Given the description of an element on the screen output the (x, y) to click on. 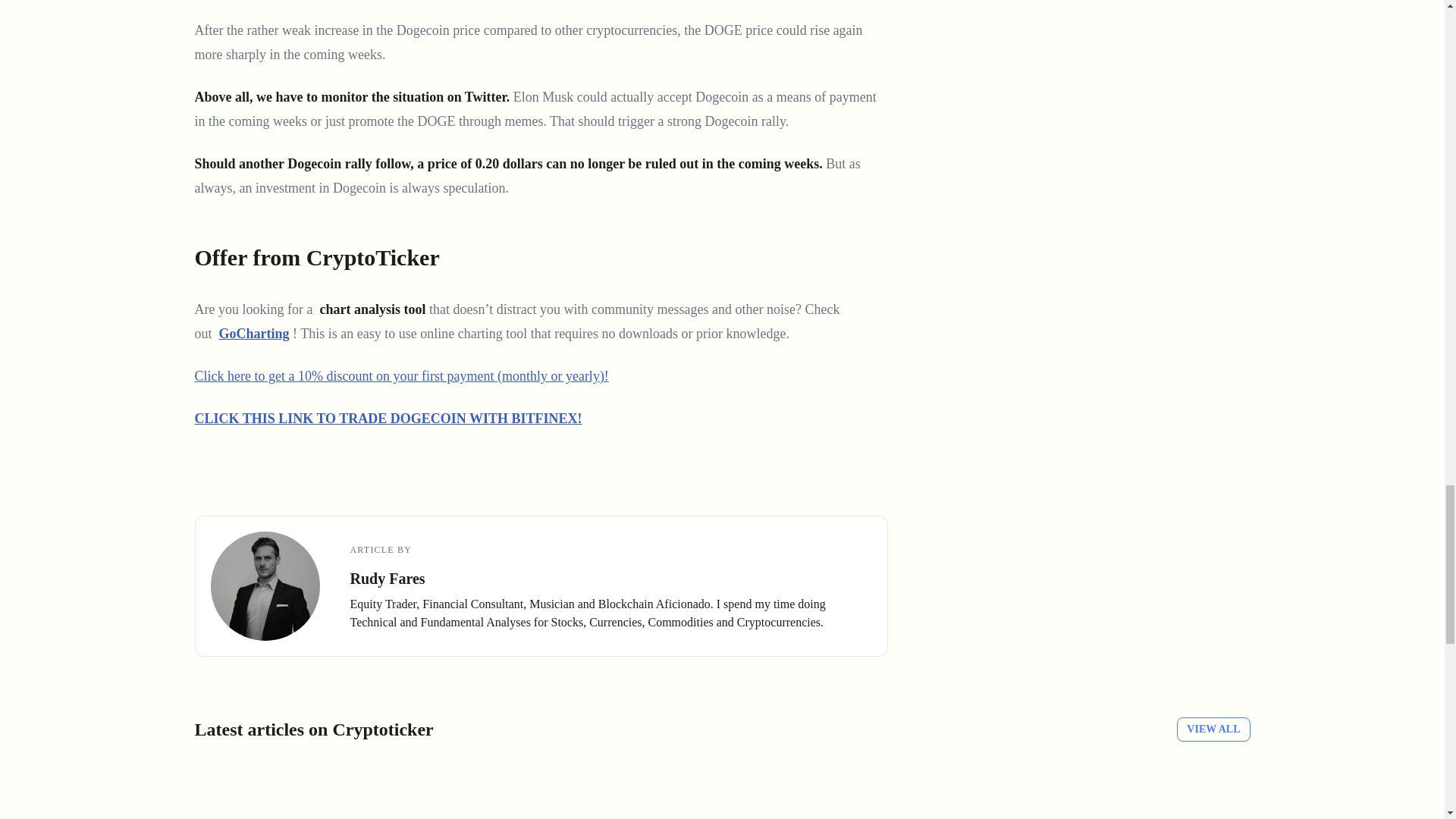
GoCharting (254, 333)
CLICK THIS LINK TO TRADE DOGECOIN WITH BITFINEX! (386, 418)
VIEW ALL (1212, 729)
